Given the description of an element on the screen output the (x, y) to click on. 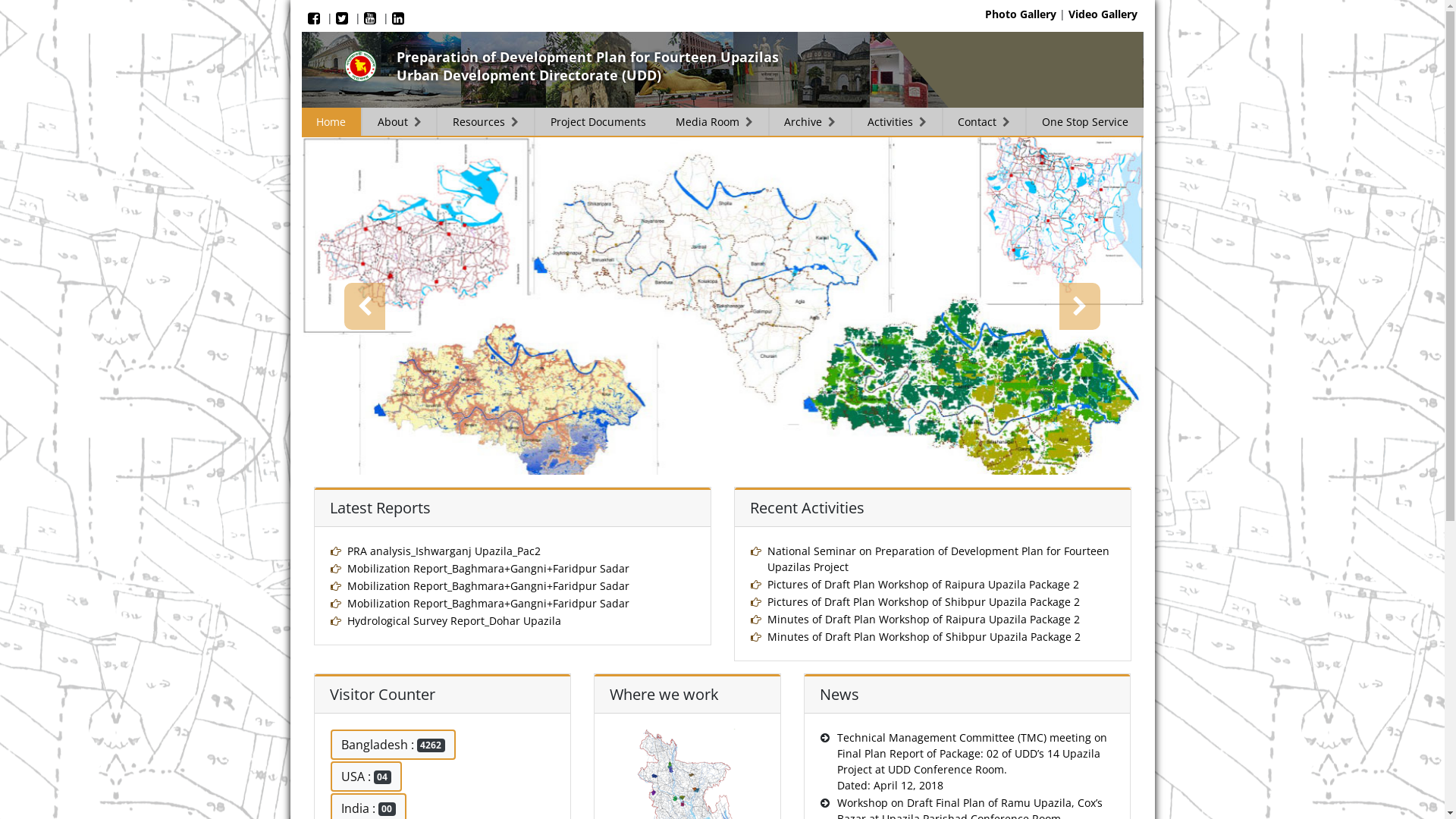
Contact   Element type: text (984, 121)
Hydrological Survey Report_Dohar Upazila Element type: text (454, 620)
Resources   Element type: text (485, 121)
Media Room   Element type: text (714, 121)
PRA analysis_Ishwarganj Upazila_Pac2 Element type: text (443, 550)
Project Documents Element type: text (597, 121)
Pictures of Draft Plan Workshop of Shibpur Upazila Package 2 Element type: text (923, 601)
Bangladesh : 4262 Element type: text (393, 744)
Mobilization Report_Baghmara+Gangni+Faridpur Sadar Element type: text (488, 585)
Archive   Element type: text (810, 121)
Mobilization Report_Baghmara+Gangni+Faridpur Sadar Element type: text (488, 568)
USA : 04 Element type: text (366, 776)
About   Element type: text (399, 121)
Activities   Element type: text (897, 121)
Minutes of Draft Plan Workshop of Raipura Upazila Package 2 Element type: text (923, 618)
Photo Gallery Element type: text (1019, 13)
Video Gallery Element type: text (1101, 13)
Pictures of Draft Plan Workshop of Raipura Upazila Package 2 Element type: text (923, 584)
Minutes of Draft Plan Workshop of Shibpur Upazila Package 2 Element type: text (923, 636)
Mobilization Report_Baghmara+Gangni+Faridpur Sadar Element type: text (488, 603)
One Stop Service Element type: text (1084, 121)
Home Element type: text (331, 121)
